Given the description of an element on the screen output the (x, y) to click on. 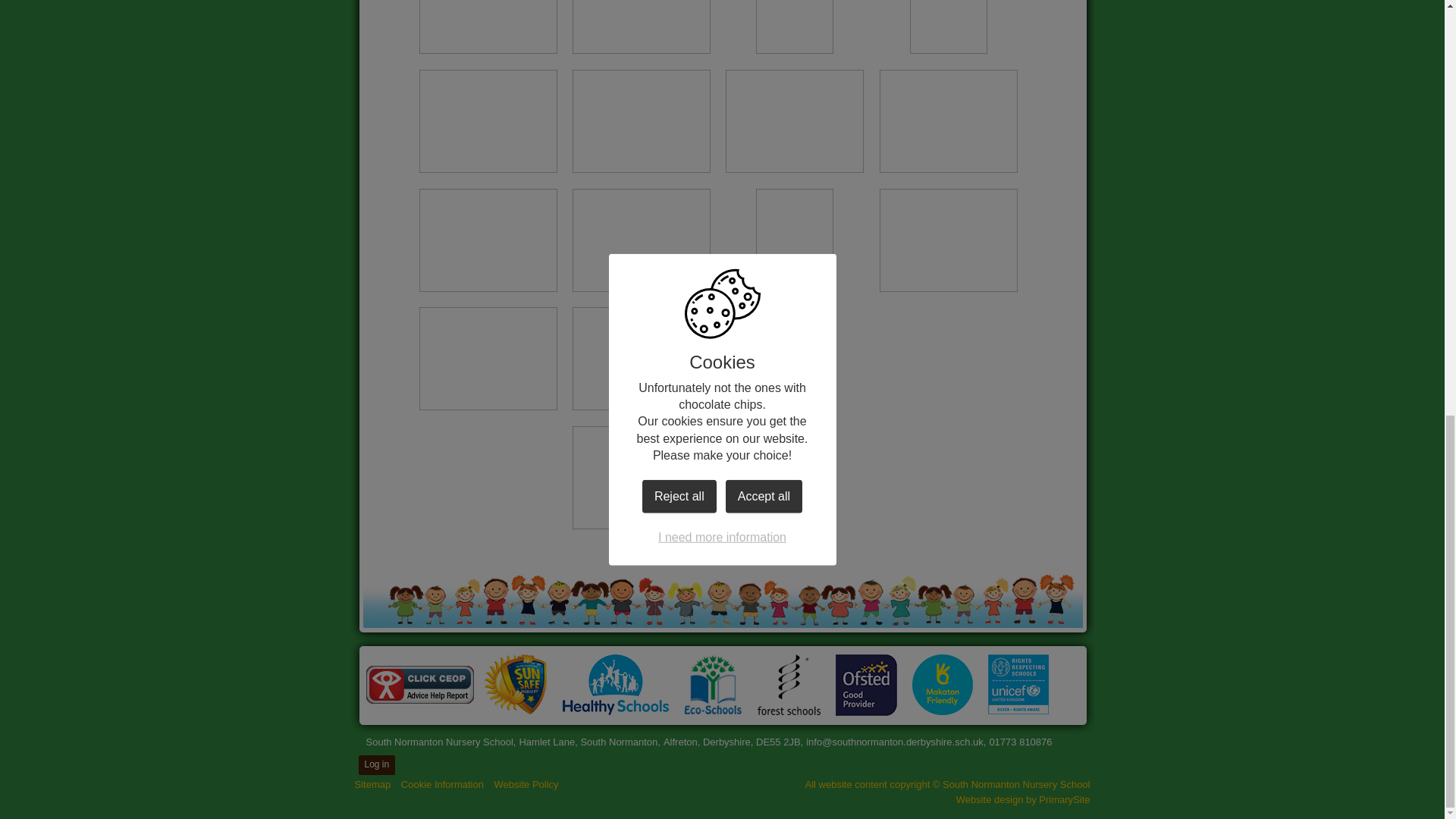
View large version of image (487, 359)
View large version of image (947, 27)
View large version of image (641, 27)
CEOP - Advice, Help and Report (419, 684)
View large version of image (487, 239)
Log in (376, 764)
View large version of image (641, 239)
View large version of image (487, 121)
View large version of image (794, 121)
View large version of image (487, 27)
